Given the description of an element on the screen output the (x, y) to click on. 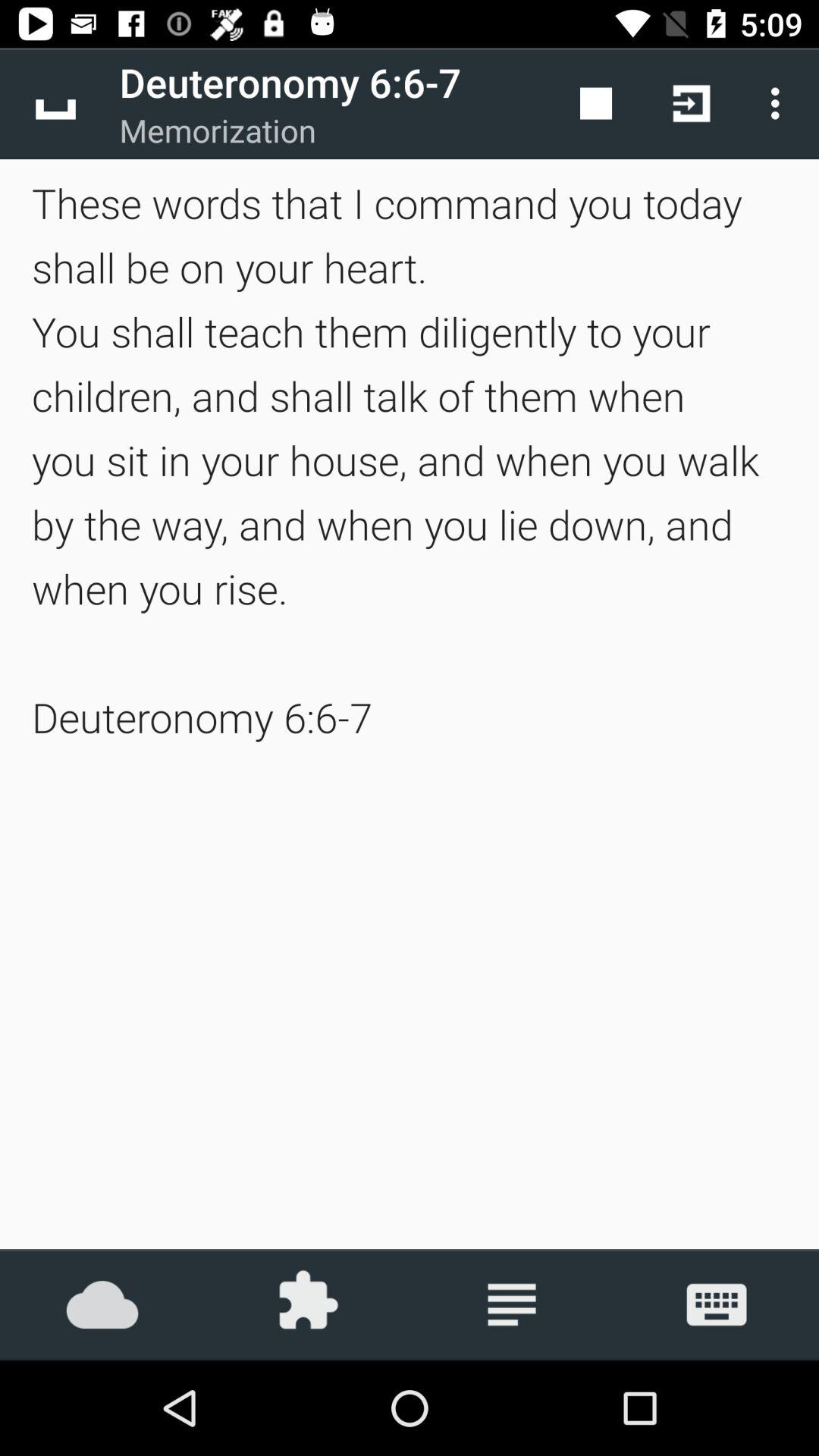
press the icon to the left of deuteronomy 6 6 item (55, 103)
